Given the description of an element on the screen output the (x, y) to click on. 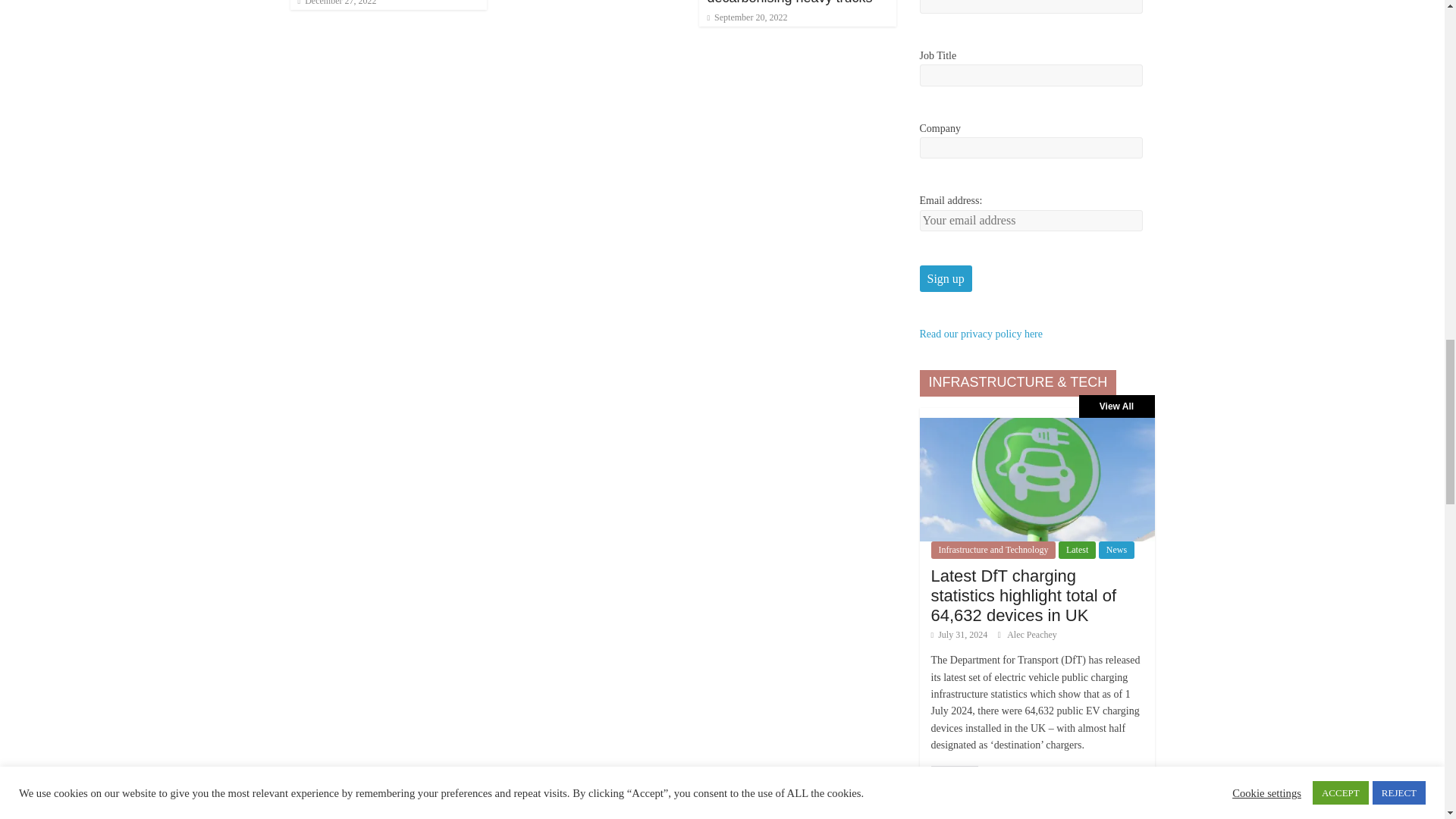
8:13 pm (336, 2)
Sign up (944, 278)
